Given the description of an element on the screen output the (x, y) to click on. 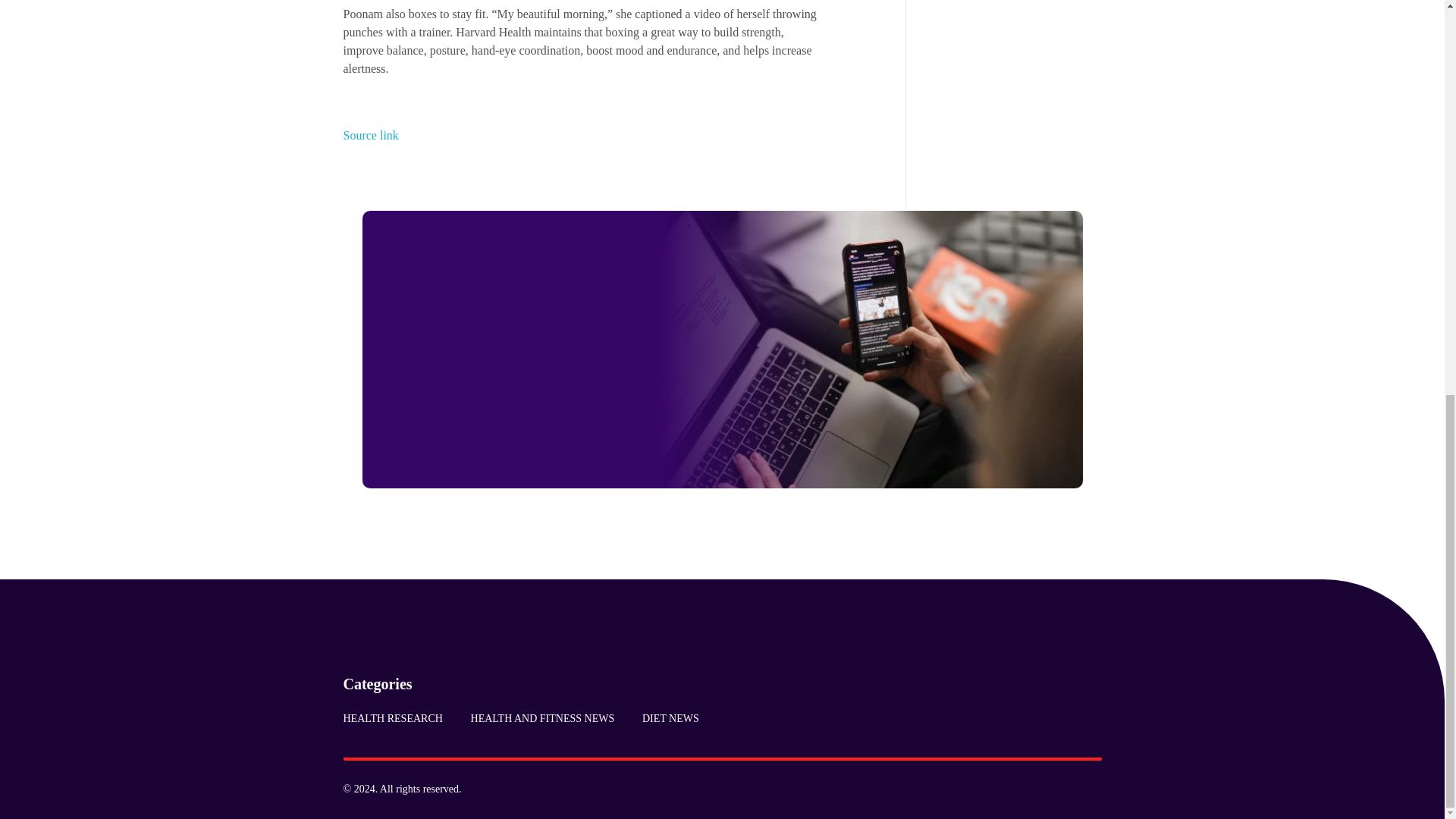
HEALTH RESEARCH (399, 718)
Sign Me Up (534, 435)
DIET NEWS (663, 718)
HEALTH AND FITNESS NEWS (542, 718)
Source link (369, 134)
